Given the description of an element on the screen output the (x, y) to click on. 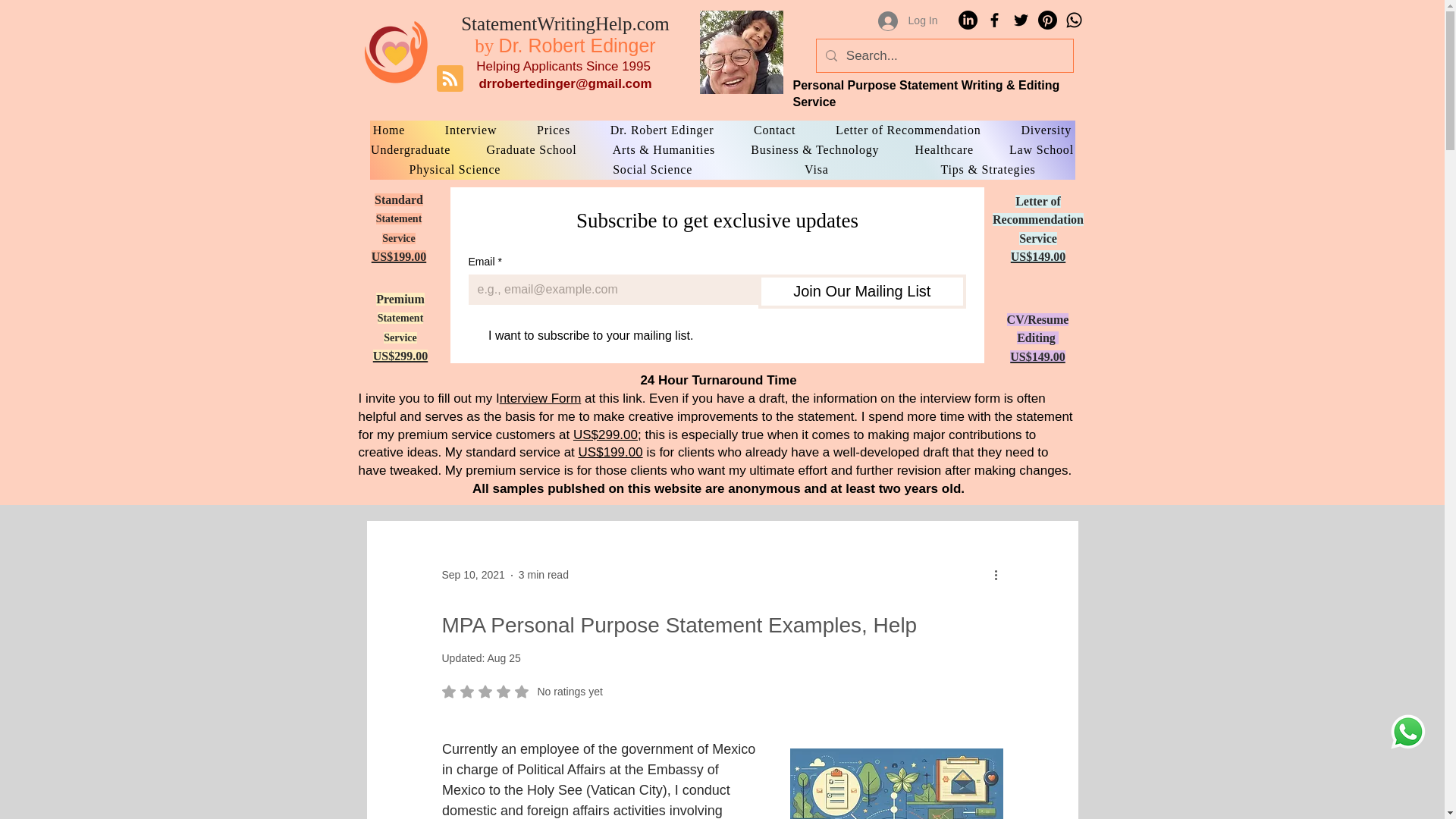
Dr. Robert Edinger (661, 130)
Interview (471, 130)
Home (389, 130)
Helping Applicants Since 1995 (563, 65)
Sep 10, 2021 (472, 574)
Personal Statement of Purpose Writing and Editng Sevice (395, 50)
Prices (553, 130)
Contact (775, 130)
Log In (908, 21)
